Given the description of an element on the screen output the (x, y) to click on. 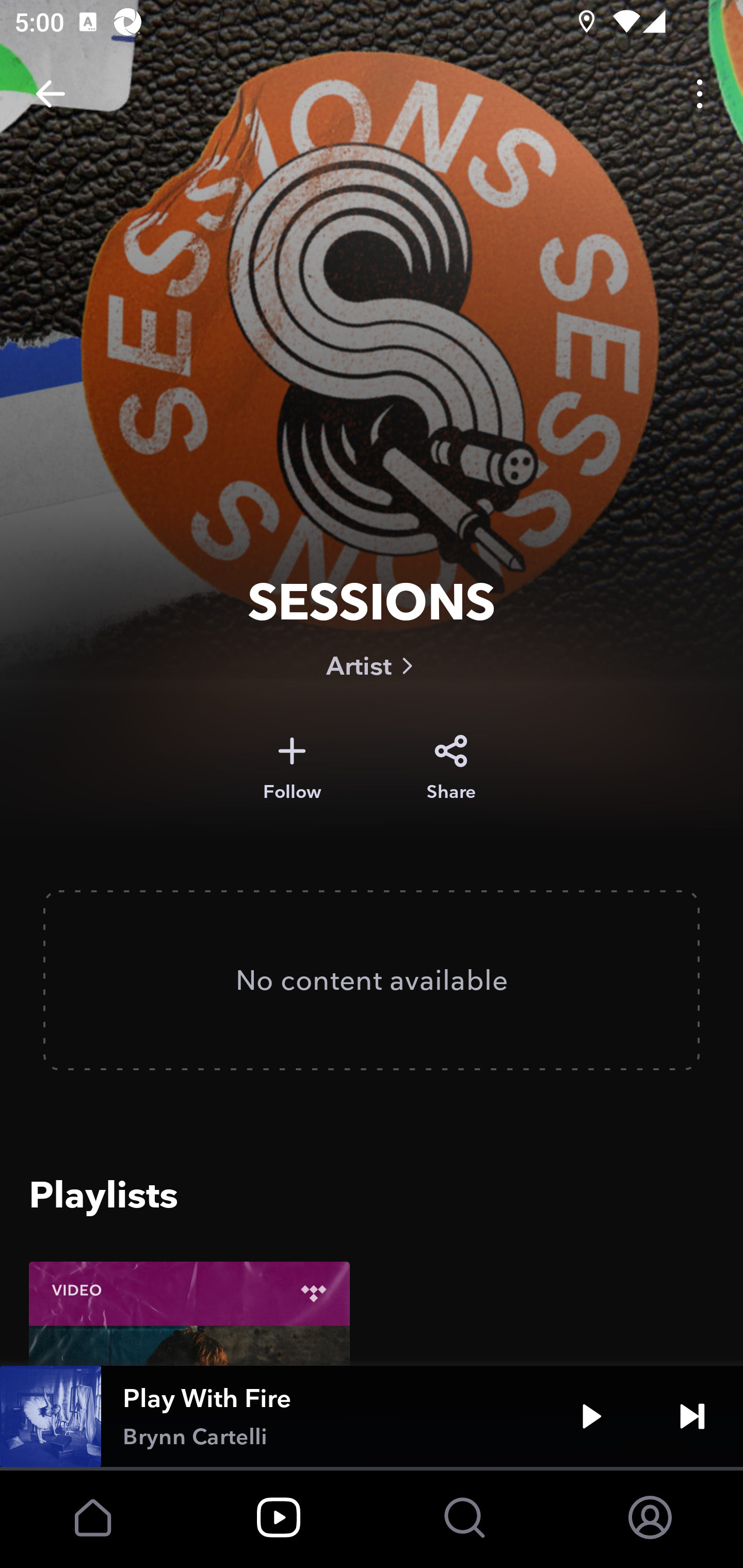
Options (699, 93)
Artist (371, 665)
Follow (291, 767)
Share (450, 767)
Play With Fire Brynn Cartelli Play (371, 1416)
Play (590, 1416)
